Given the description of an element on the screen output the (x, y) to click on. 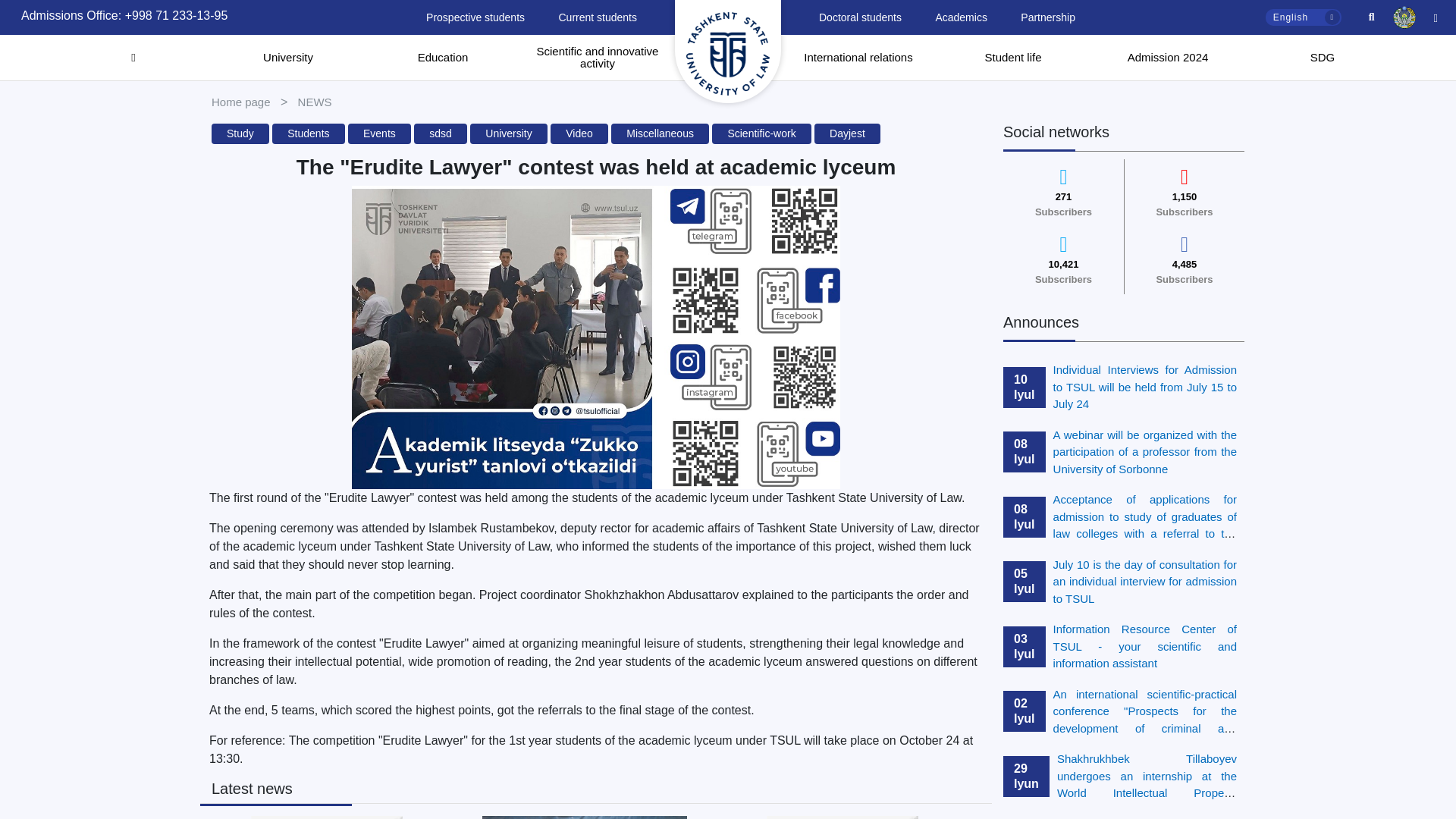
Prospective students (475, 17)
Doctoral students (860, 17)
Academics (960, 17)
Current students (597, 17)
